Given the description of an element on the screen output the (x, y) to click on. 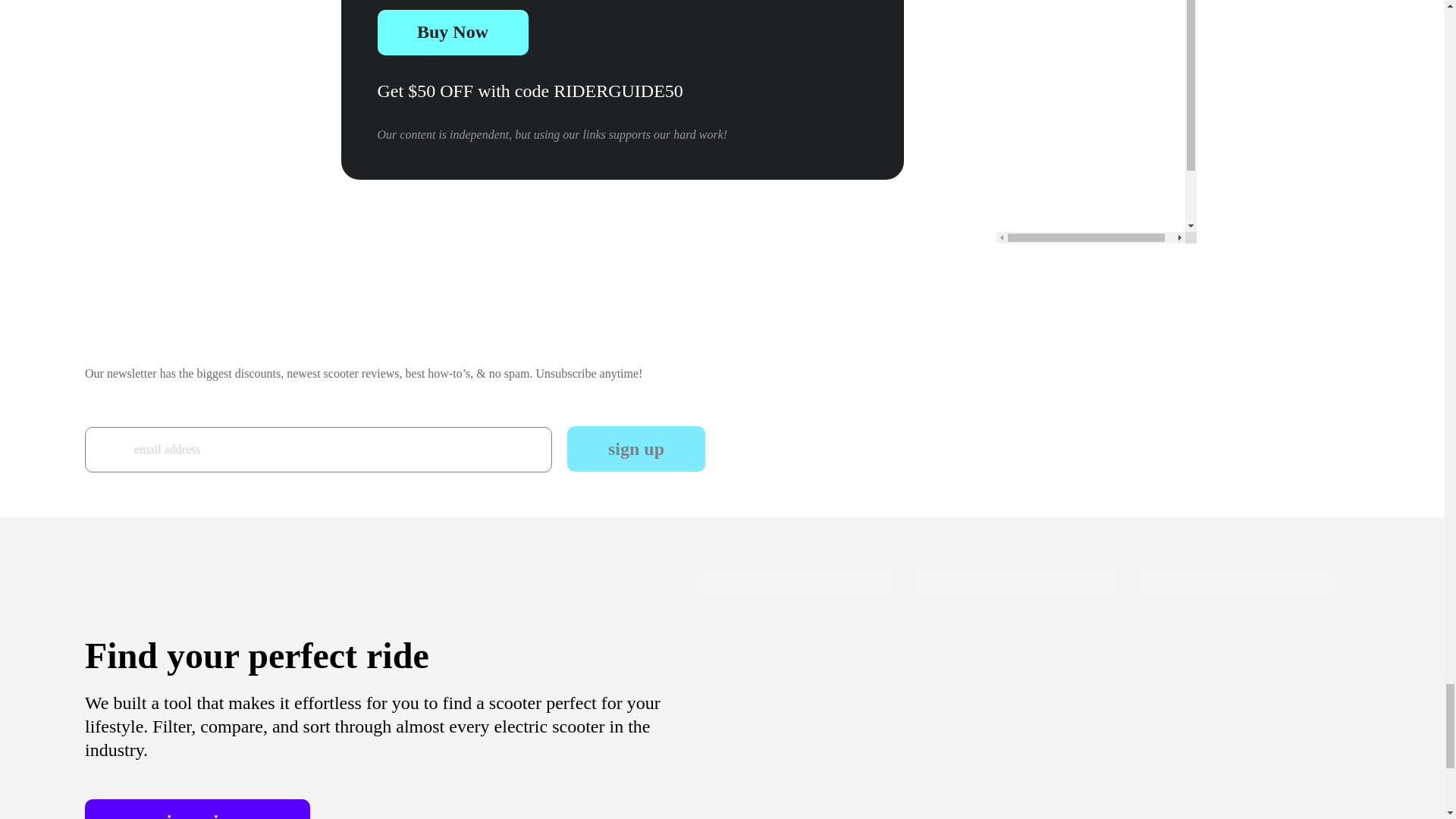
sign up (635, 448)
Find your perfect ride (256, 655)
Buy Now (451, 31)
jump in (197, 809)
